Given the description of an element on the screen output the (x, y) to click on. 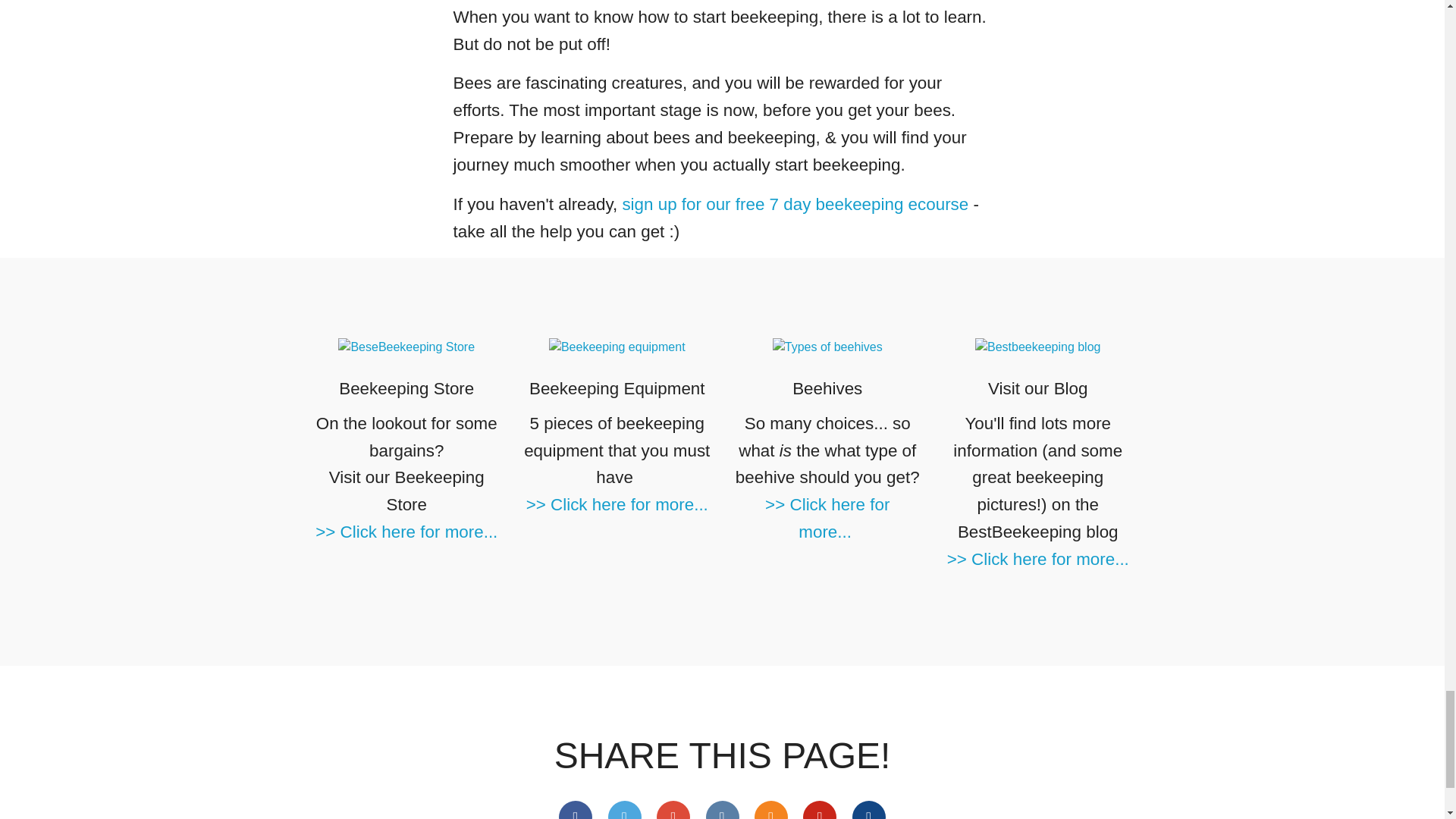
Share link on VKontakte (721, 809)
Share link on Odnoklassniki (770, 809)
Which Beehive? (827, 347)
Beekeeping store (405, 347)
Share link on Twitter (625, 809)
sign up for our free 7 day beekeeping ecourse (794, 203)
Beekeeping blog (1037, 347)
Beekeeping equipment needed (616, 347)
Share link on Facebook (575, 809)
Share link on Pinterest (819, 809)
Share link on Mailru (868, 809)
